Given the description of an element on the screen output the (x, y) to click on. 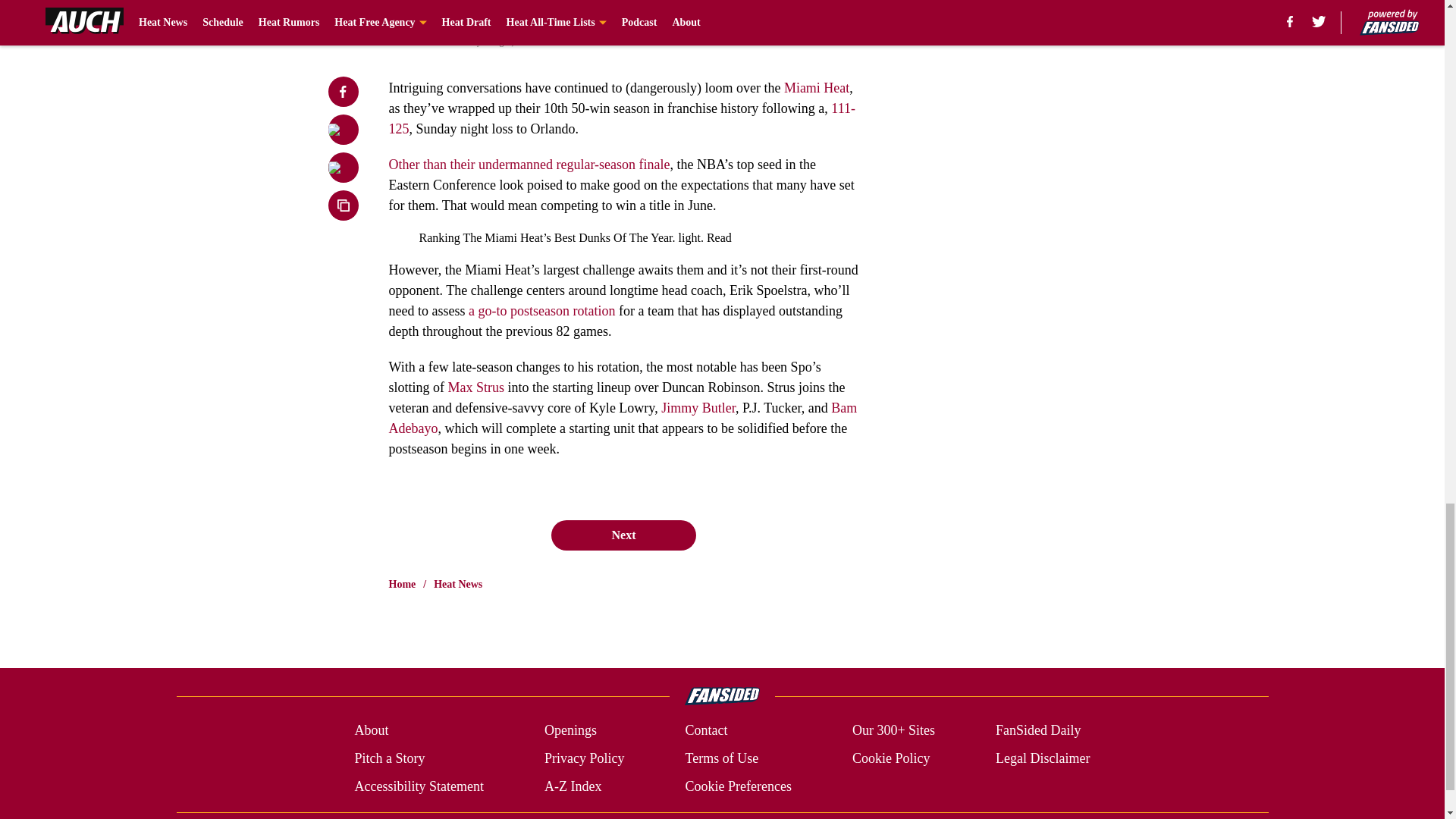
Bam Adebayo (622, 417)
111-125 (622, 118)
Other than their undermanned regular-season finale (528, 164)
Max Strus (476, 387)
Openings (570, 730)
Heat News (457, 584)
Jimmy Butler (698, 407)
a go-to postseason rotation (541, 310)
Contact (705, 730)
About (370, 730)
